Given the description of an element on the screen output the (x, y) to click on. 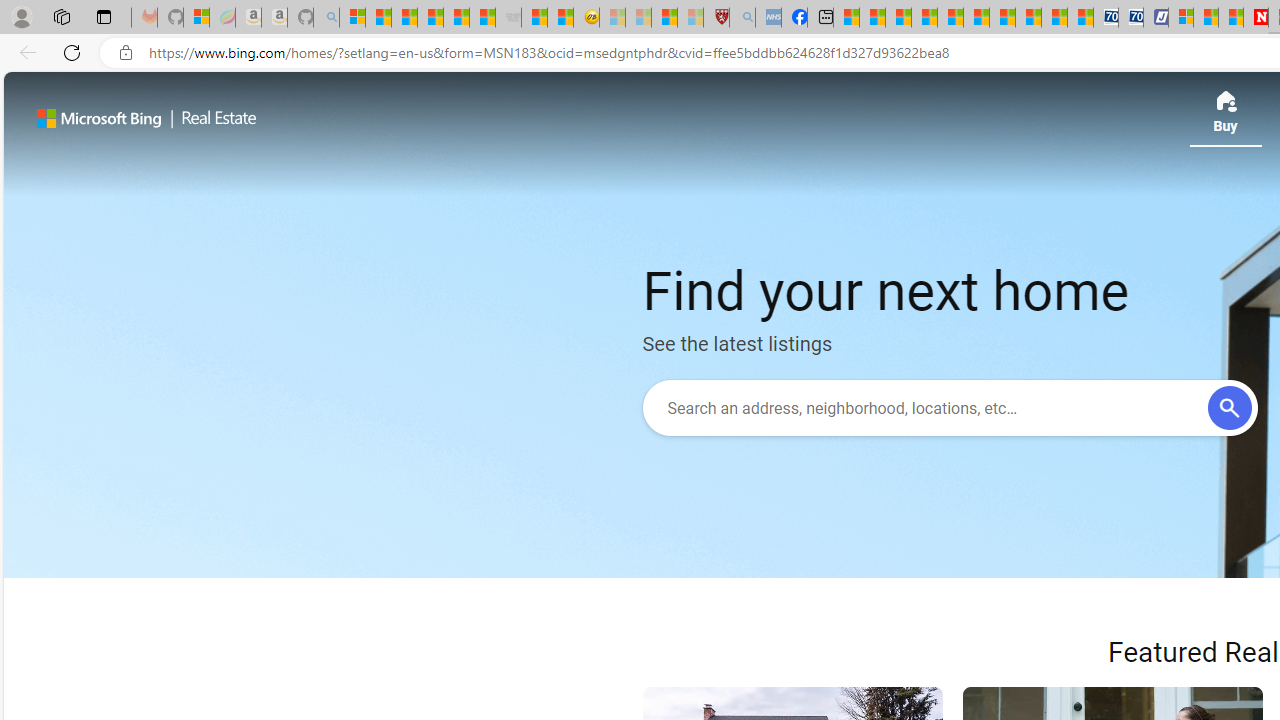
New Report Confirms 2023 Was Record Hot | Watch (456, 17)
The Weather Channel - MSN (404, 17)
Robert H. Shmerling, MD - Harvard Health (716, 17)
Newsweek - News, Analysis, Politics, Business, Technology (1256, 17)
Buy (1225, 117)
